Given the description of an element on the screen output the (x, y) to click on. 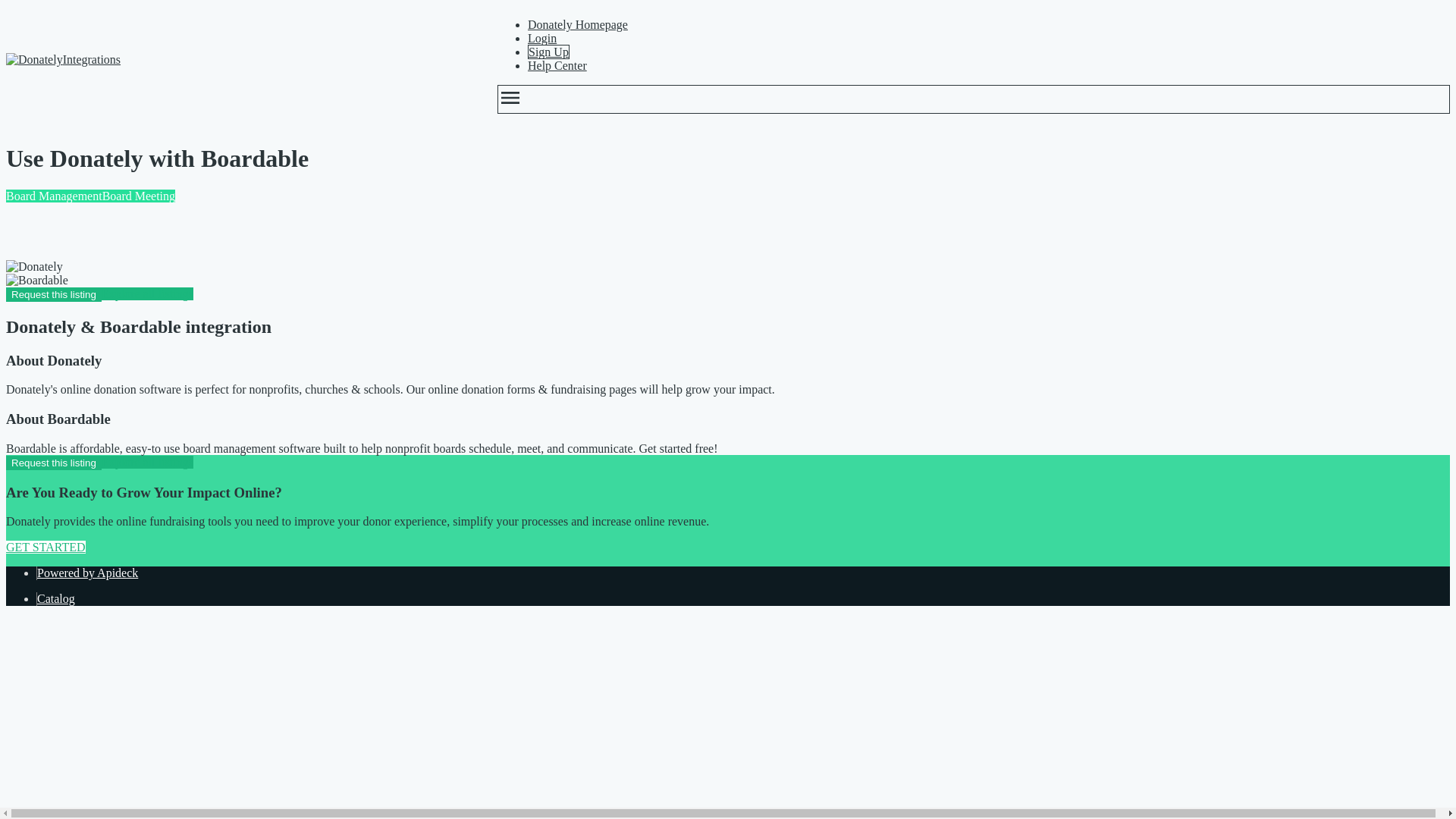
Donately (33, 59)
Sign Up (548, 51)
Donately (33, 266)
Integrations (236, 59)
Login (541, 38)
Boardable (36, 280)
Catalog (56, 598)
Help Center (556, 65)
Request this listing (53, 294)
Explore all listings (147, 293)
Explore all listings (147, 461)
Powered by Apideck (87, 572)
Donately Homepage (577, 24)
GET STARTED (45, 546)
Request this listing (53, 462)
